Given the description of an element on the screen output the (x, y) to click on. 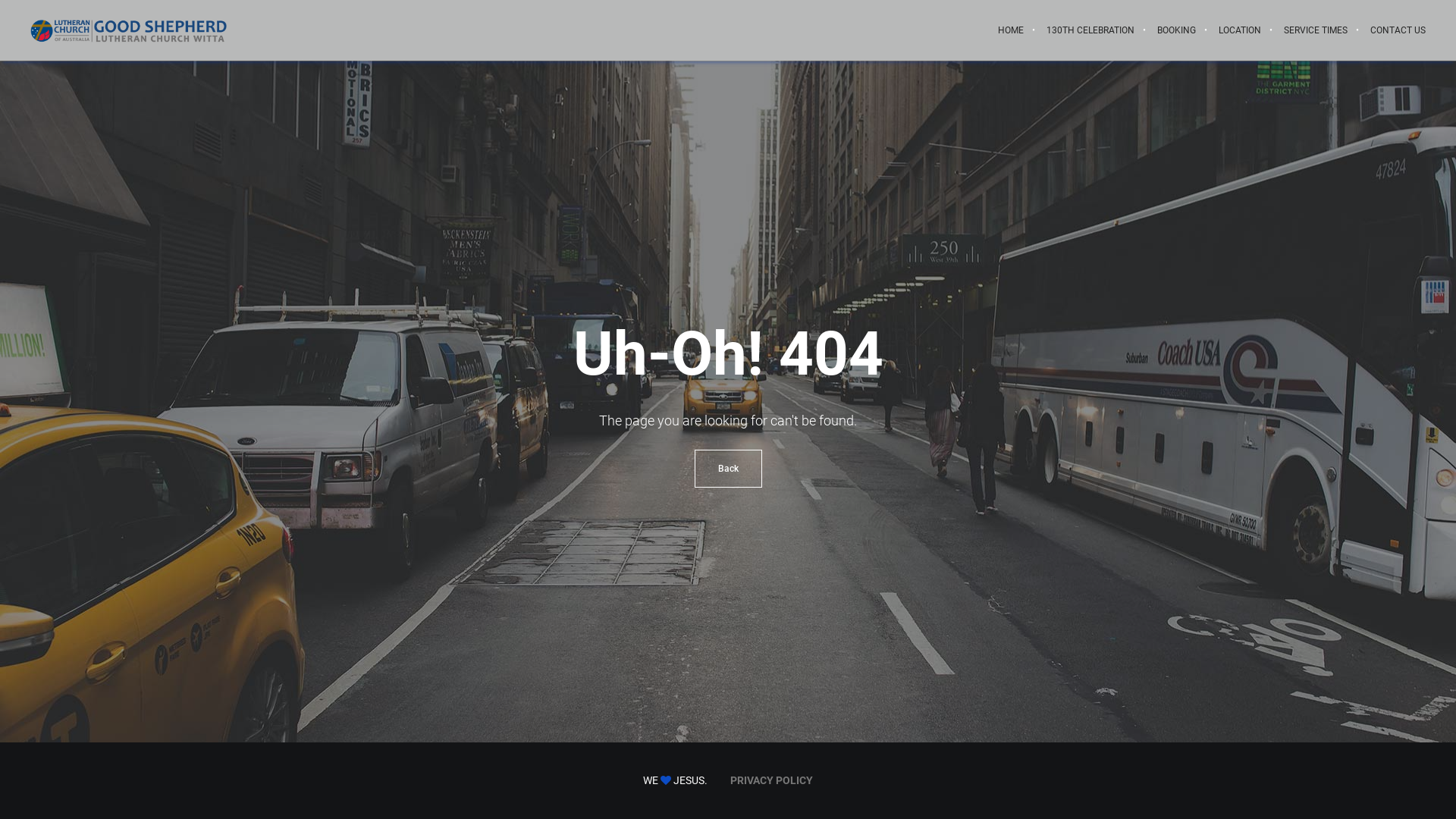
SERVICE TIMES Element type: text (1315, 30)
PRIVACY POLICY Element type: text (771, 780)
HOME Element type: text (1010, 30)
130TH CELEBRATION Element type: text (1090, 30)
Back Element type: text (728, 467)
BOOKING Element type: text (1176, 30)
CONTACT US Element type: text (1391, 30)
LOCATION Element type: text (1239, 30)
